Given the description of an element on the screen output the (x, y) to click on. 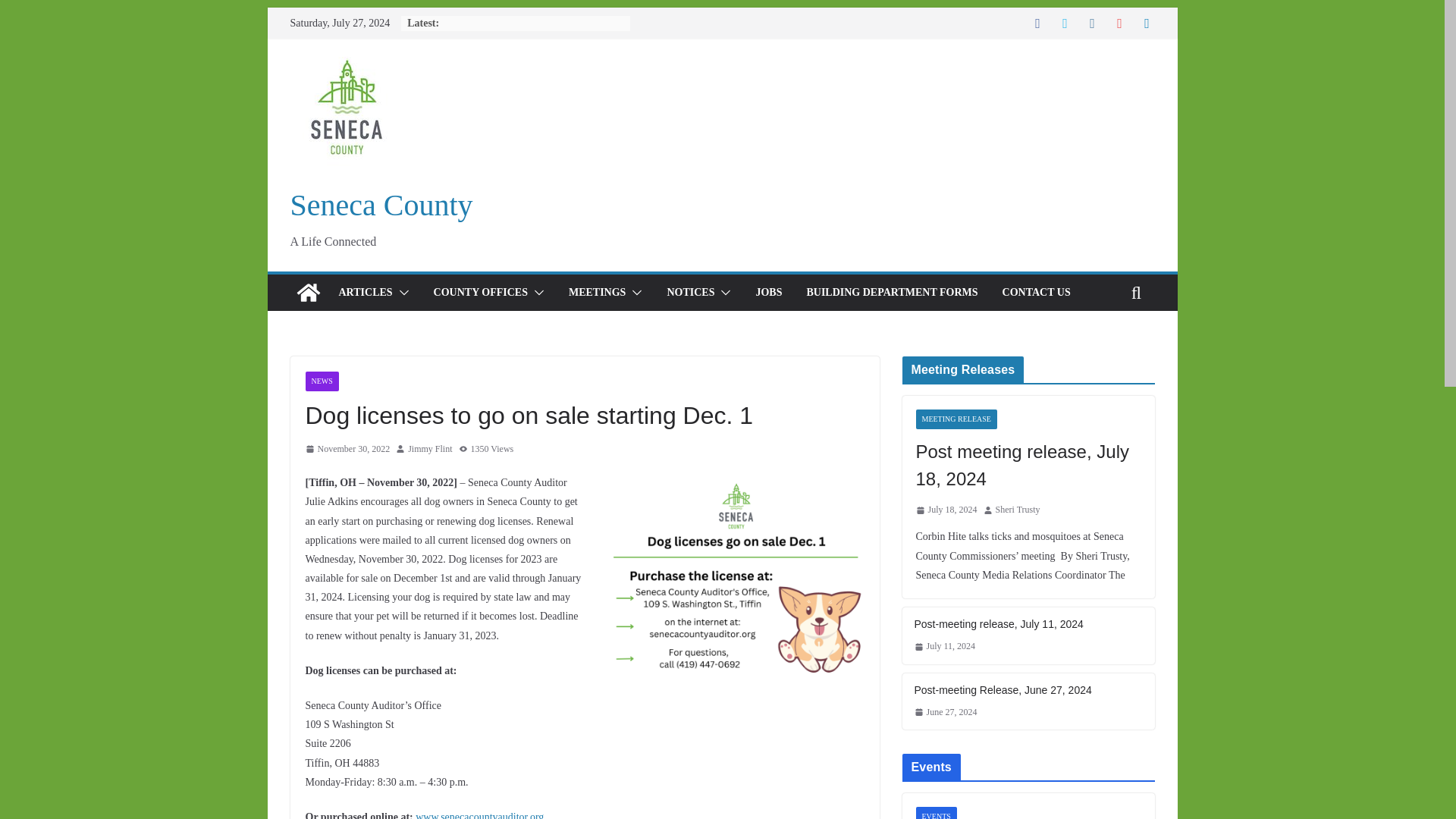
ARTICLES (364, 292)
Jimmy Flint (429, 449)
November 30, 2022 (347, 449)
NEWS (320, 381)
www.senecacountyauditor.org (478, 815)
NOTICES (690, 292)
BUILDING DEPARTMENT FORMS (891, 292)
Download This Theme (480, 292)
JOBS (768, 292)
MEETINGS (597, 292)
Jimmy Flint (429, 449)
Seneca County (307, 292)
CONTACT US (1036, 292)
COUNTY OFFICES (480, 292)
